Given the description of an element on the screen output the (x, y) to click on. 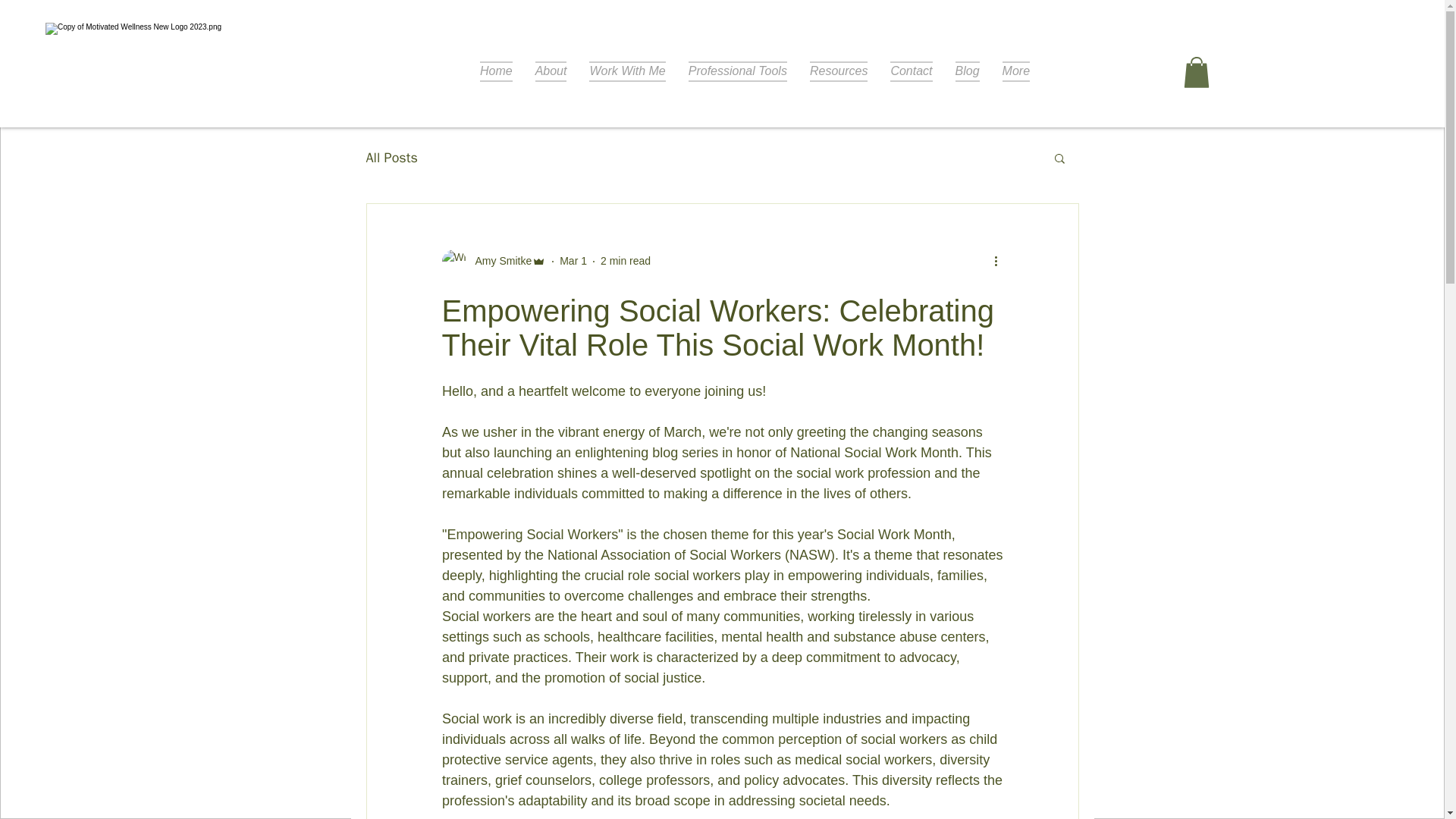
Contact (911, 72)
About (551, 72)
Home (496, 72)
All Posts (390, 157)
Amy Smitke (493, 261)
Amy Smitke (498, 261)
Mar 1 (572, 260)
Motivated Wellness New Logo 2023.png (139, 89)
2 min read (624, 260)
Work With Me (627, 72)
